Given the description of an element on the screen output the (x, y) to click on. 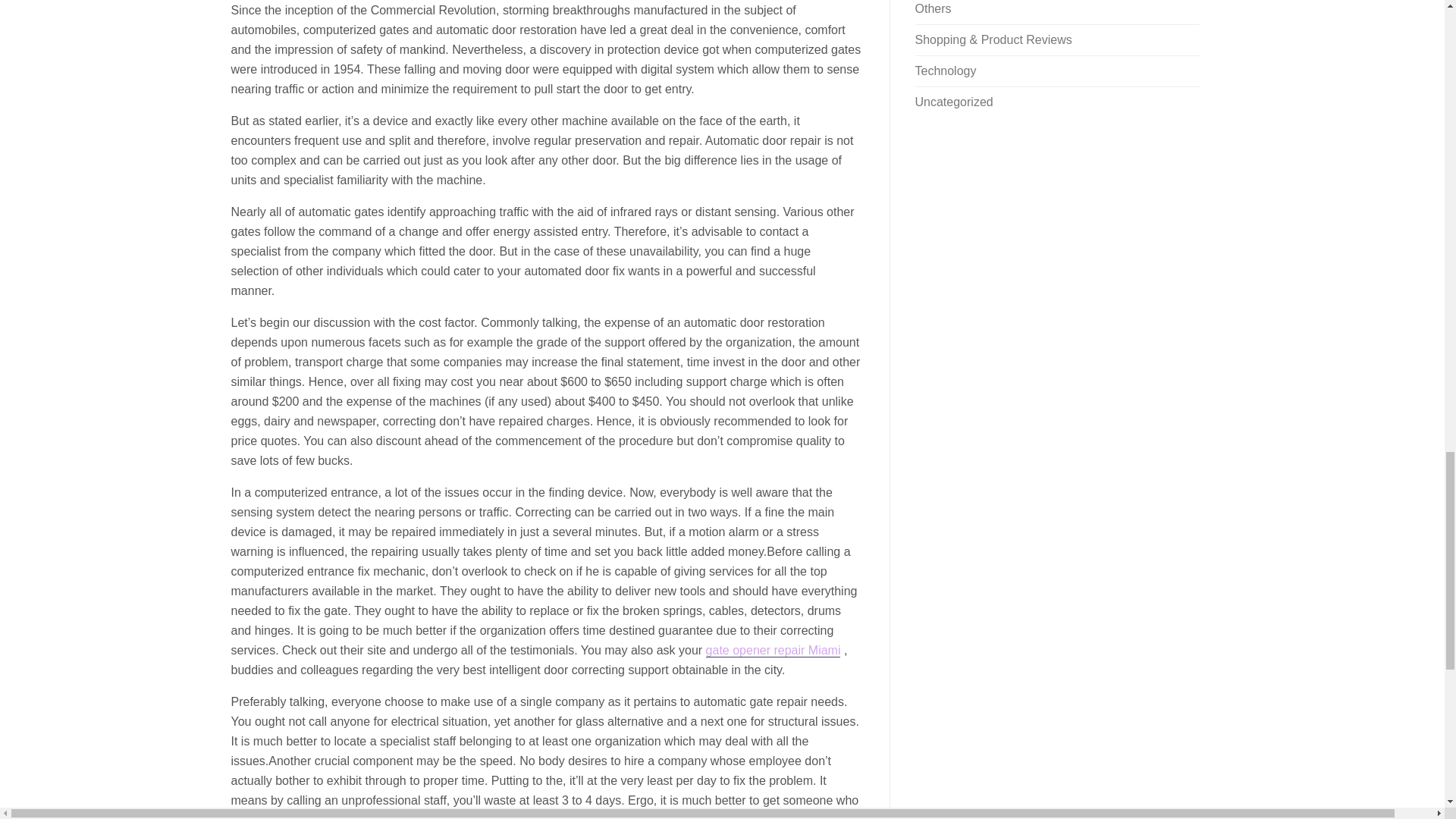
gate opener repair Miami (773, 650)
